Given the description of an element on the screen output the (x, y) to click on. 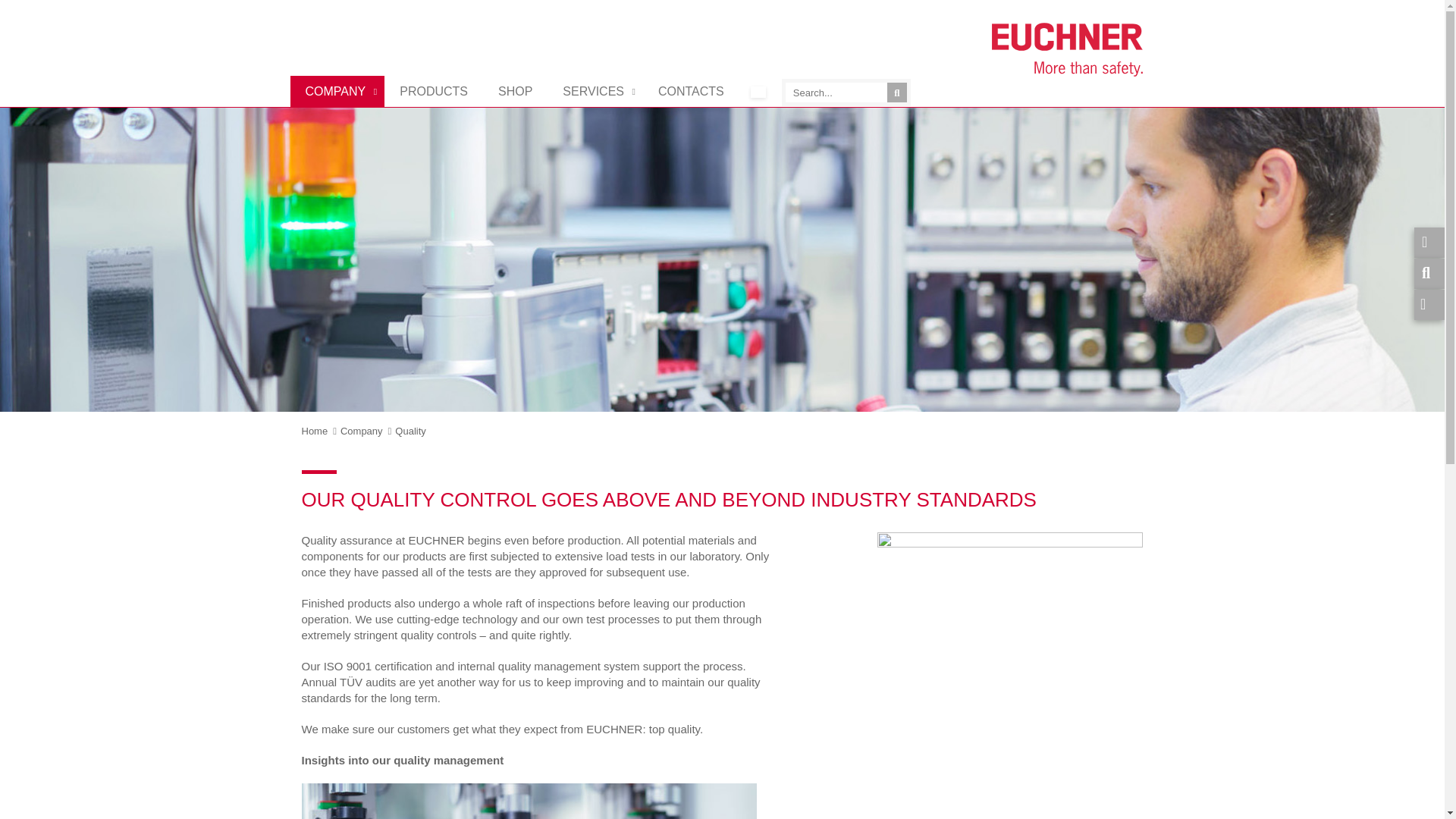
Company (361, 430)
SERVICES (595, 91)
CONTACTS (691, 91)
SHOP (515, 91)
Home (315, 430)
PRODUCTS (433, 91)
COMPANY (336, 91)
